Given the description of an element on the screen output the (x, y) to click on. 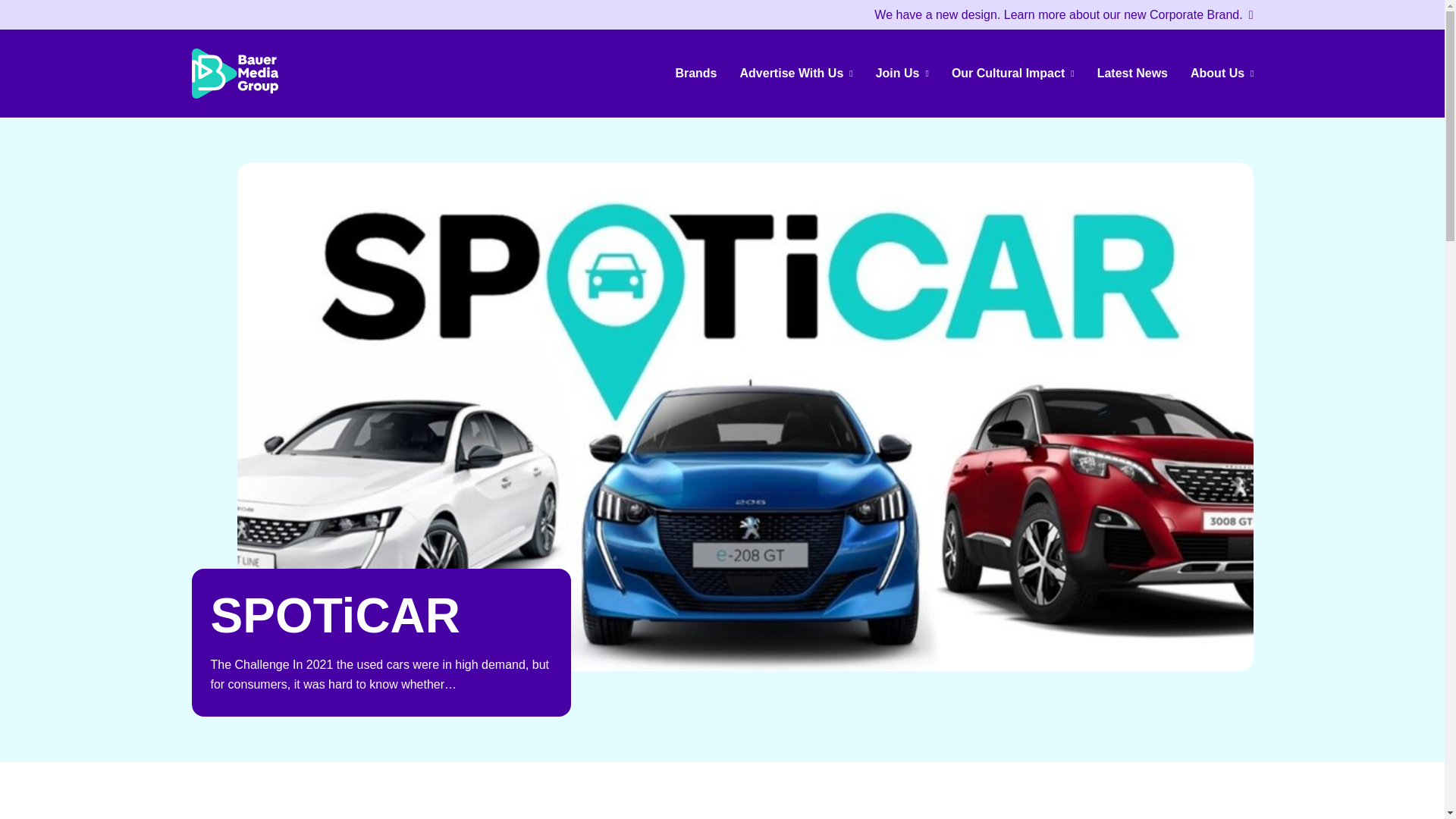
Advertise With Us (796, 73)
Our Cultural Impact (1013, 73)
Brands (695, 73)
Join Us (902, 73)
About Us (1222, 73)
Latest News (1132, 73)
